Given the description of an element on the screen output the (x, y) to click on. 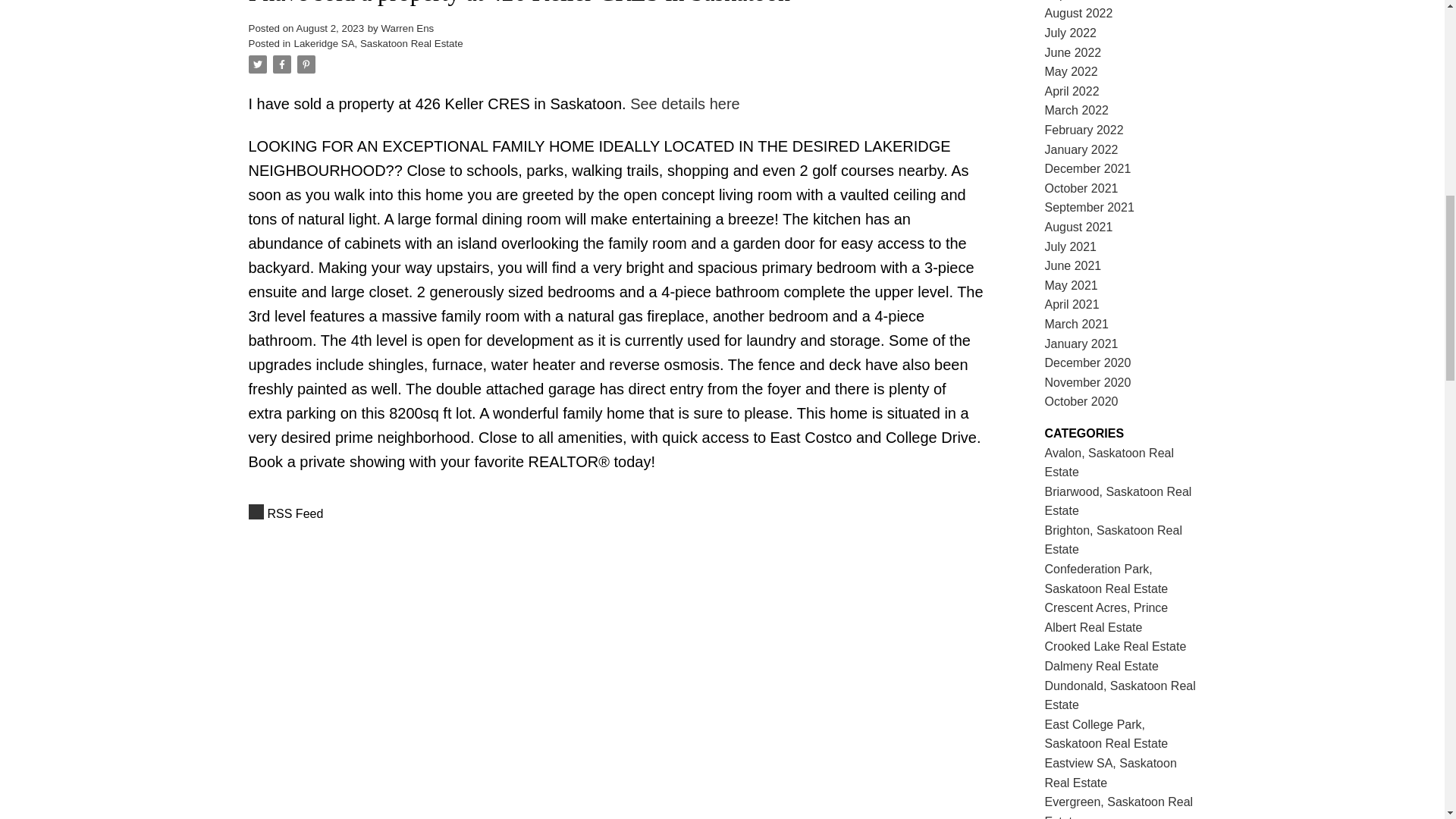
Lakeridge SA, Saskatoon Real Estate (378, 43)
RSS (616, 514)
See details here (684, 103)
